Given the description of an element on the screen output the (x, y) to click on. 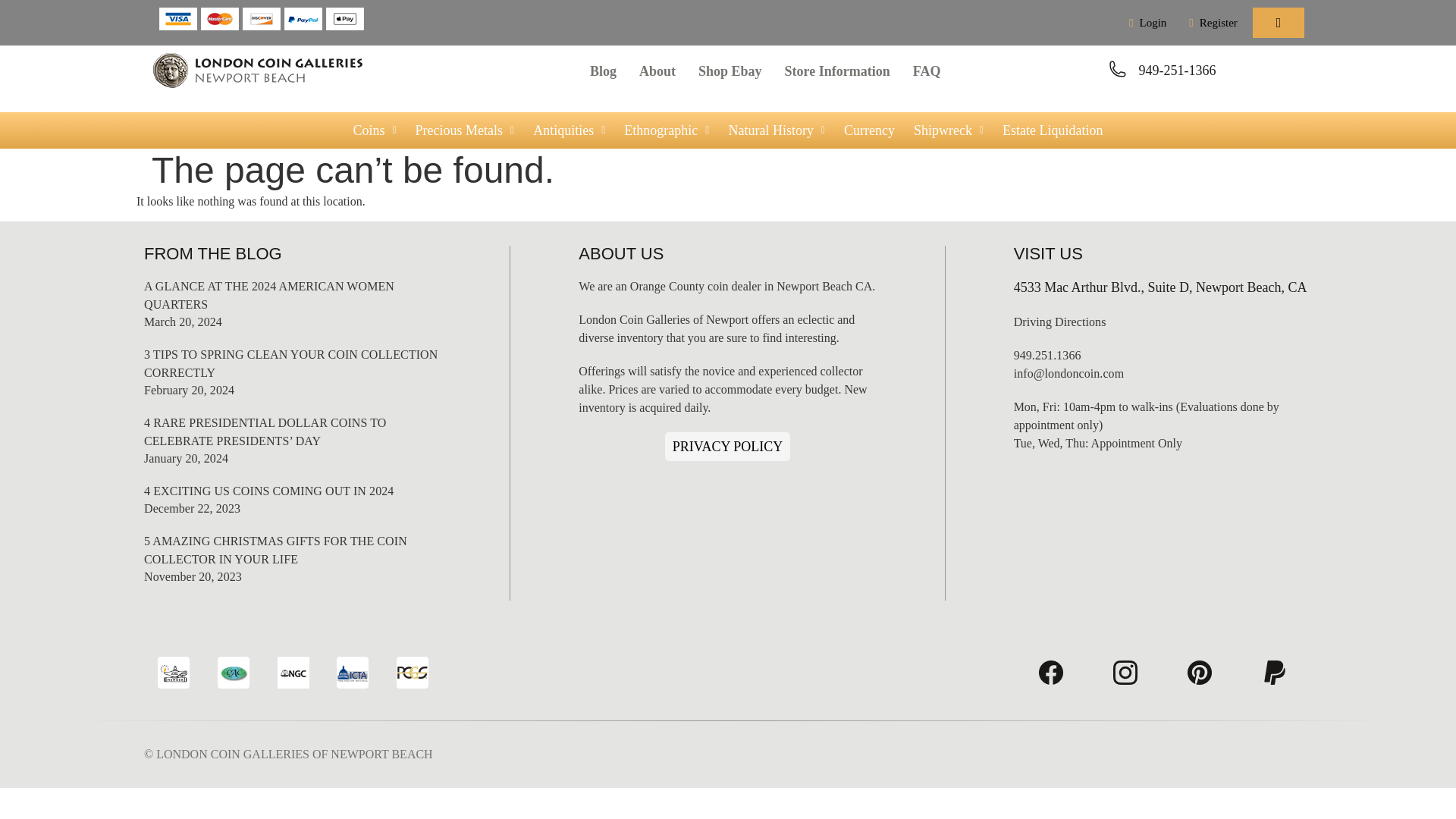
About (657, 71)
Store Information (837, 71)
Precious Metals (465, 130)
Antiquities (568, 130)
Shop Ebay (730, 71)
Coins (373, 130)
Blog (602, 71)
FAQ (926, 71)
Register (1212, 22)
Login (1147, 22)
949-251-1366 (1176, 70)
